Given the description of an element on the screen output the (x, y) to click on. 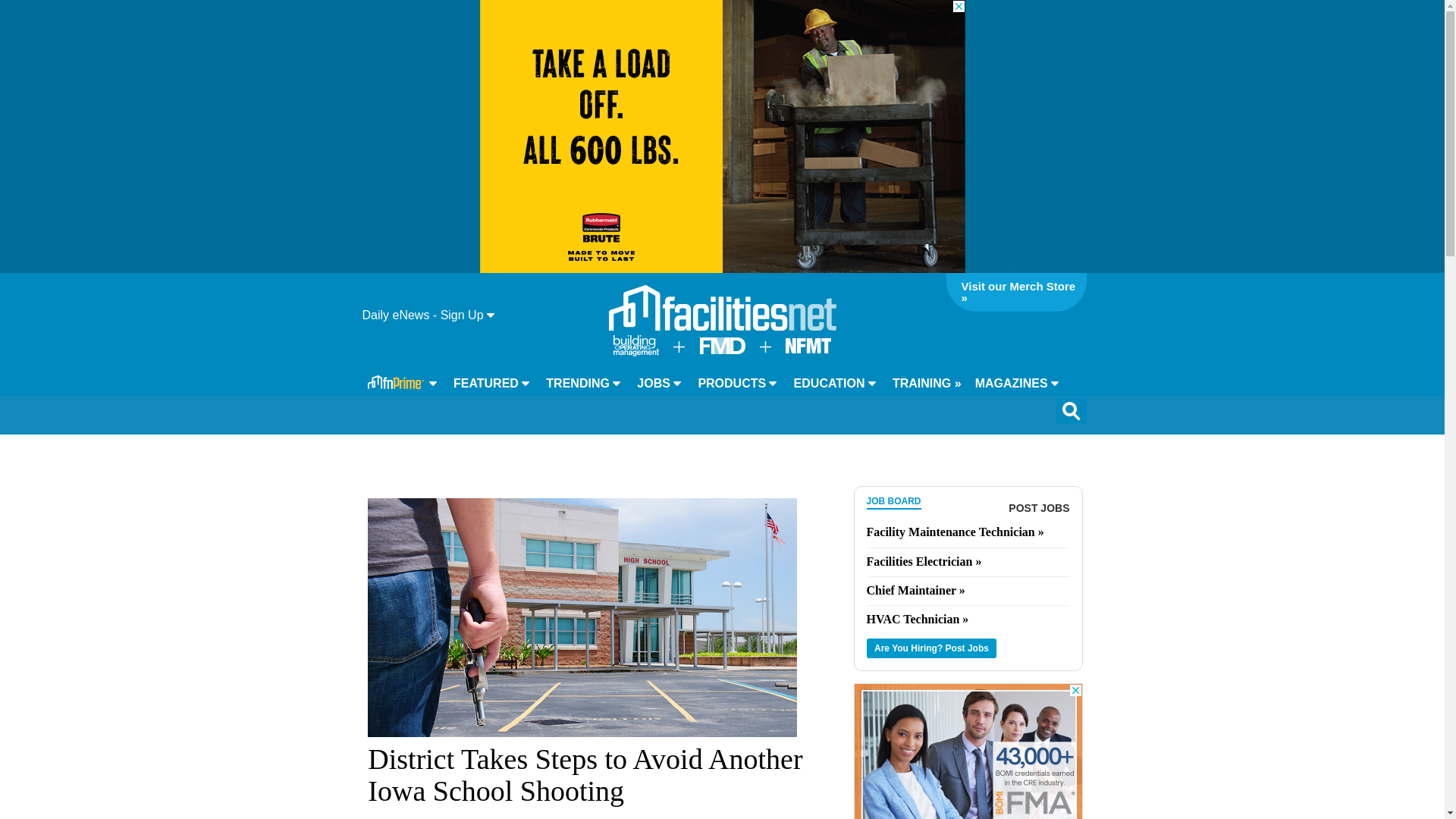
3rd party ad content (721, 136)
FEATURED (490, 383)
BOM (635, 351)
NFMT (808, 349)
Daily eNews - Sign Up (427, 314)
FMD (721, 349)
FacilitiesNet - Facilities Management News and Education (721, 308)
